Given the description of an element on the screen output the (x, y) to click on. 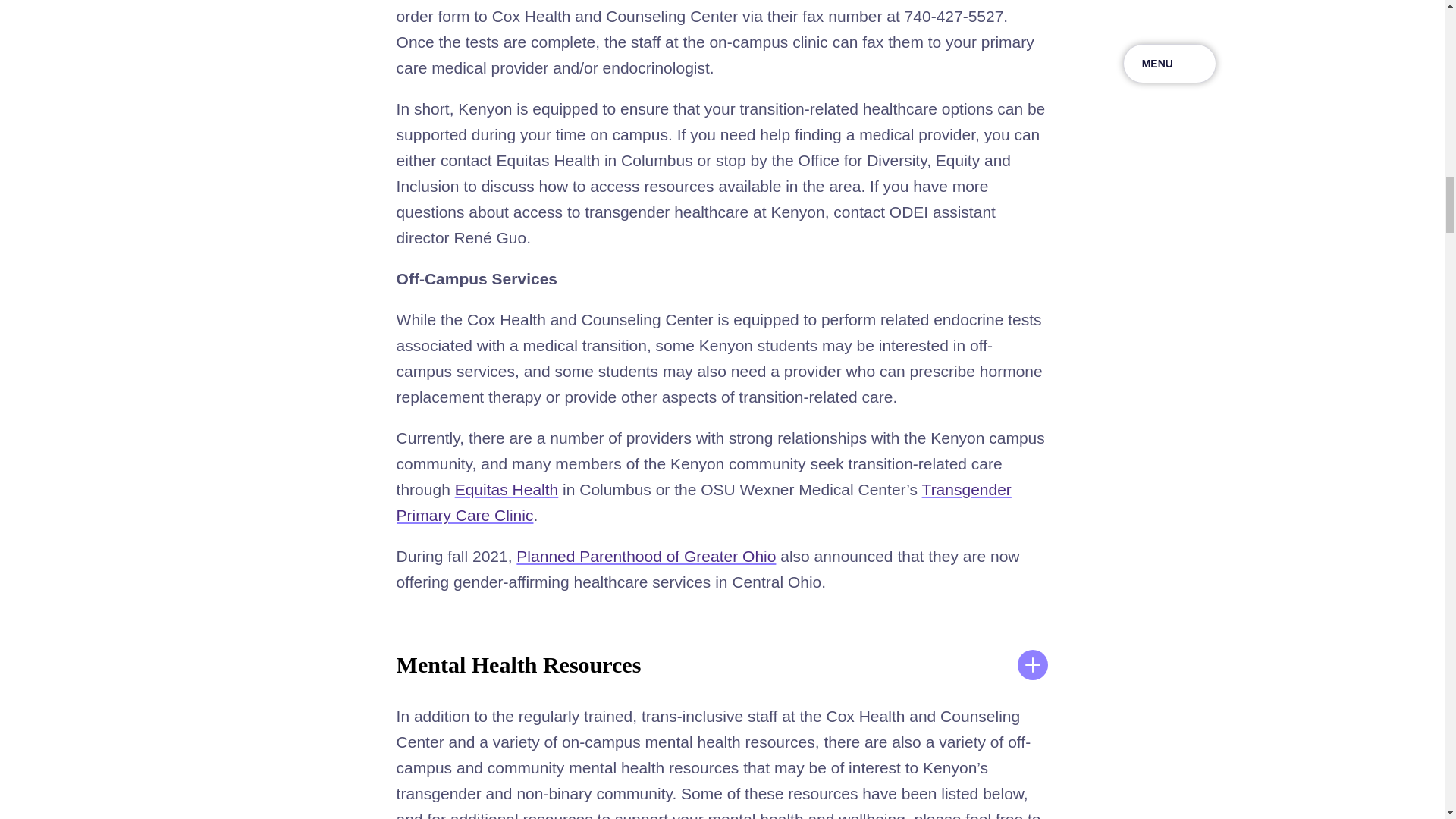
Transgender Primary Care Clinic (703, 502)
Mental Health Resources (722, 664)
Equitas Health (506, 488)
Planned Parenthood of Greater Ohio (646, 556)
